Given the description of an element on the screen output the (x, y) to click on. 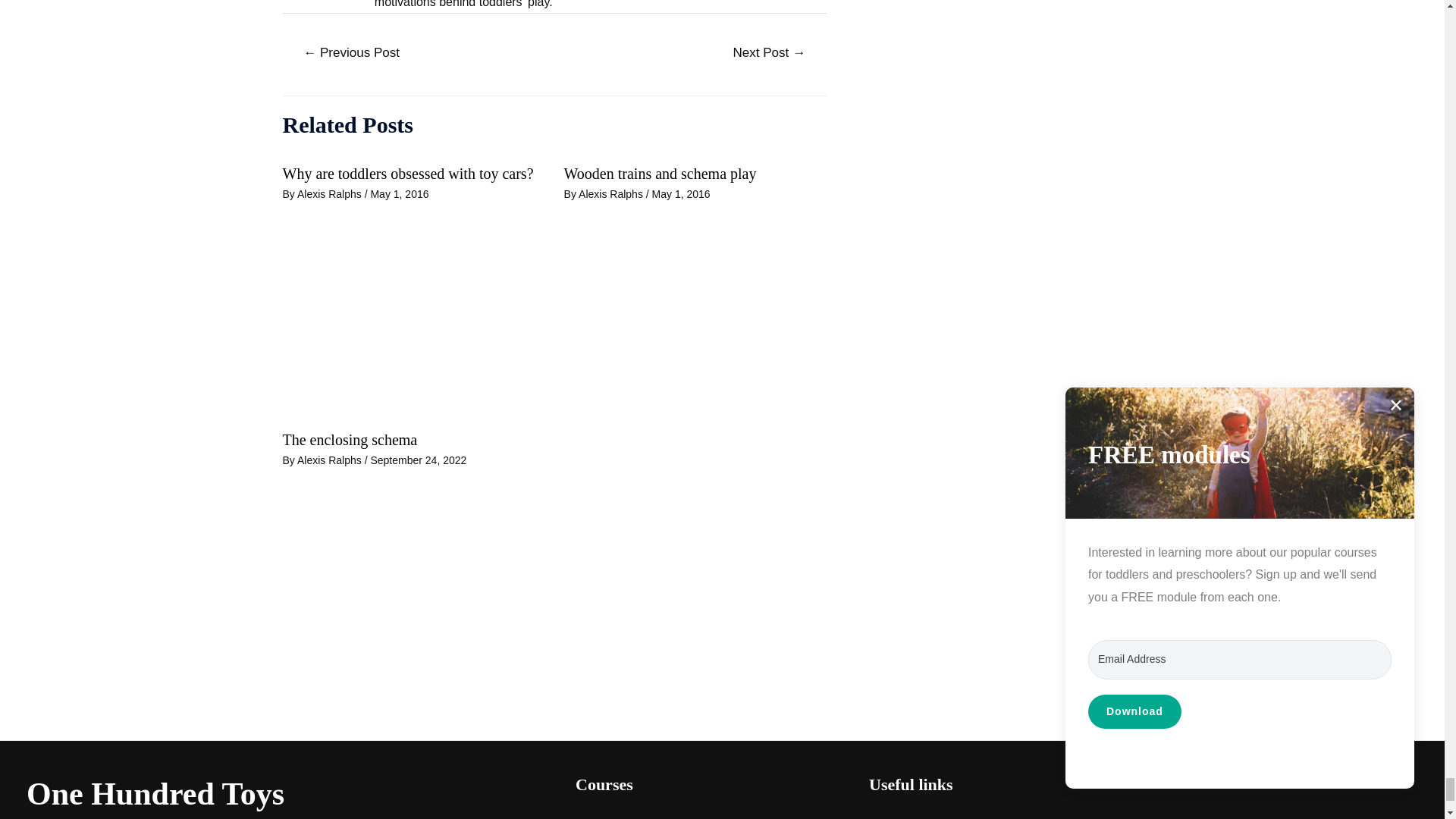
View all posts by Alexis Ralphs (331, 193)
View all posts by Alexis Ralphs (612, 193)
View all posts by Alexis Ralphs (331, 460)
